Given the description of an element on the screen output the (x, y) to click on. 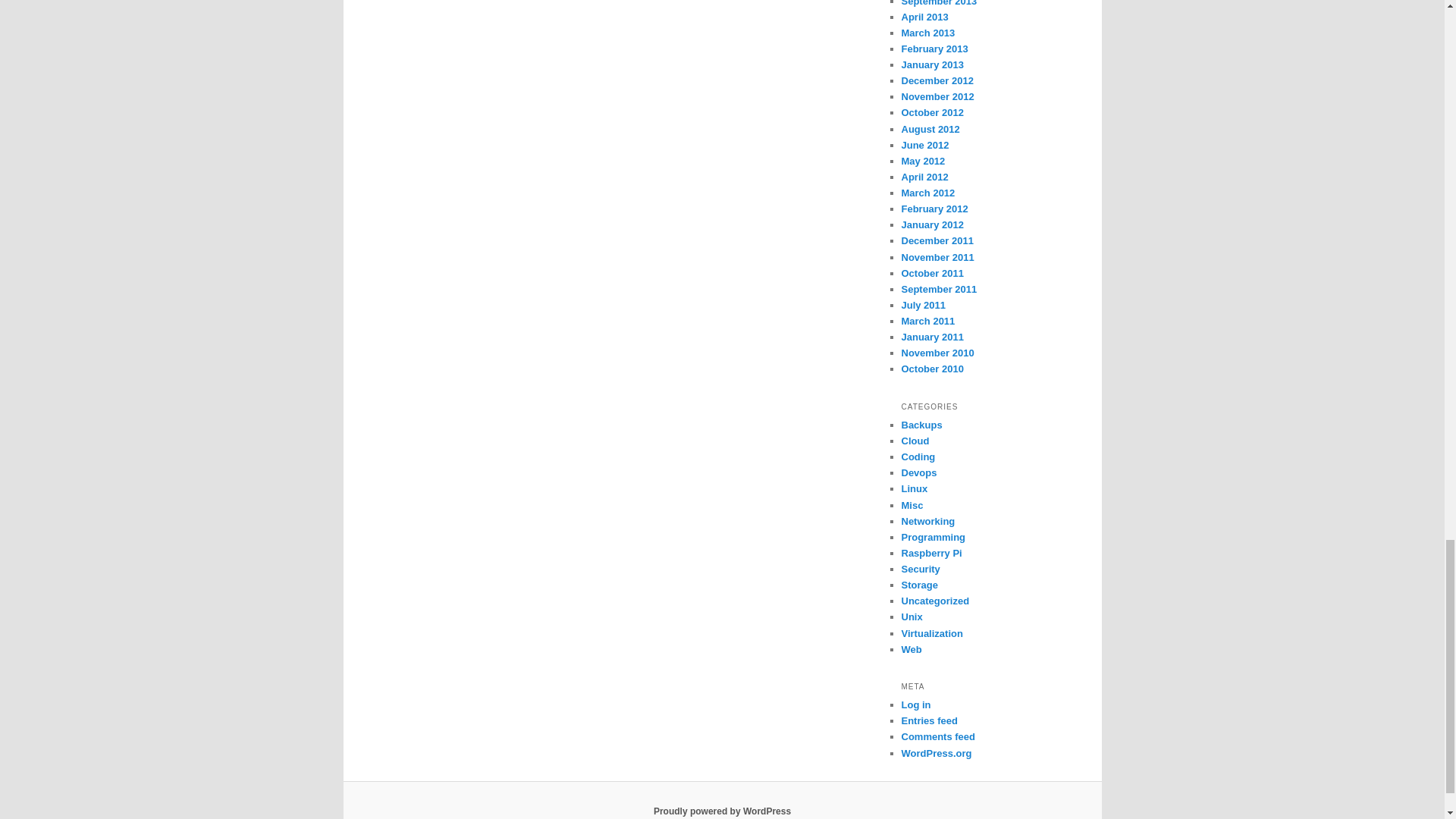
Semantic Personal Publishing Platform (721, 810)
